Given the description of an element on the screen output the (x, y) to click on. 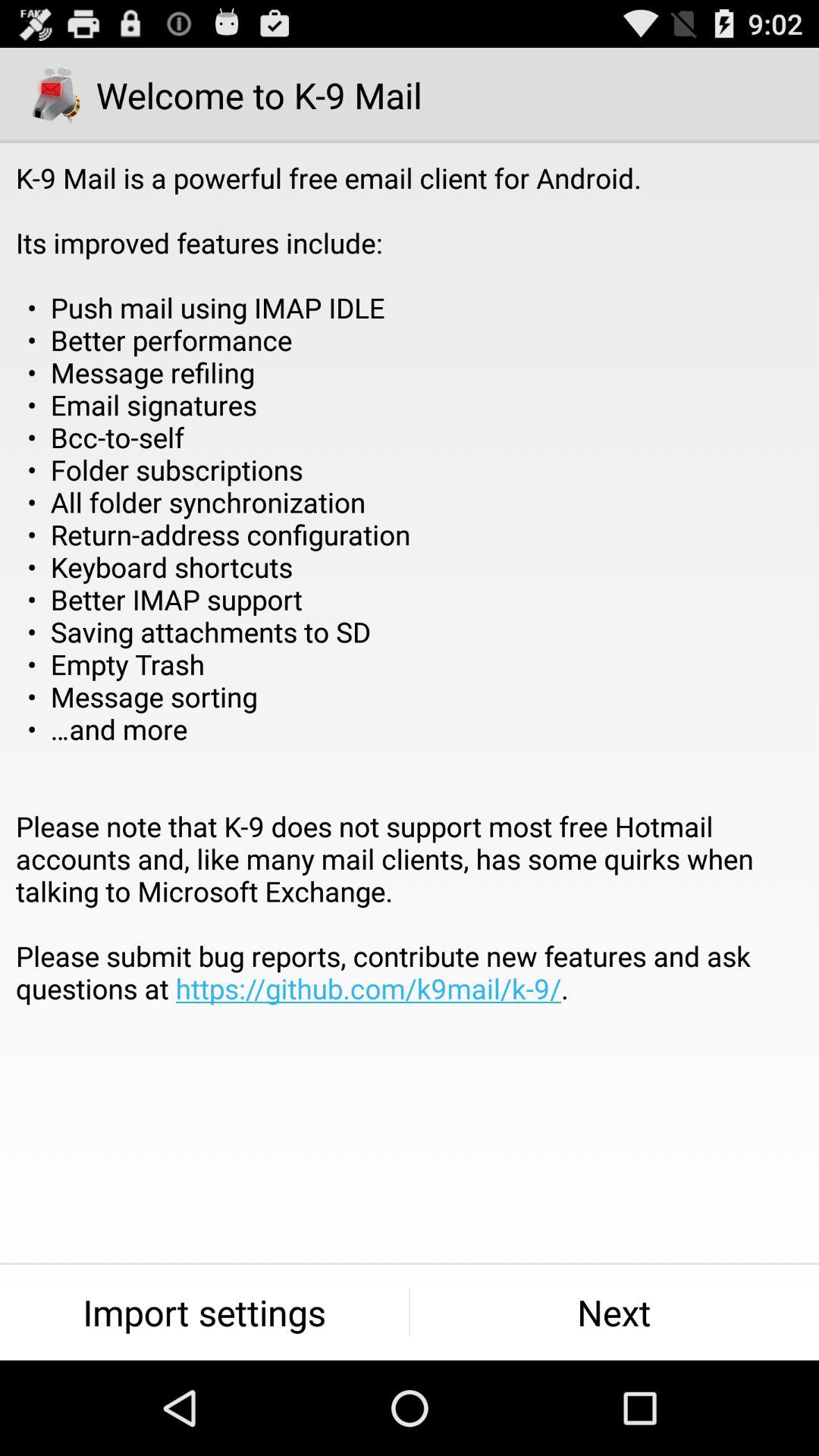
turn on the icon to the right of the import settings button (614, 1312)
